Given the description of an element on the screen output the (x, y) to click on. 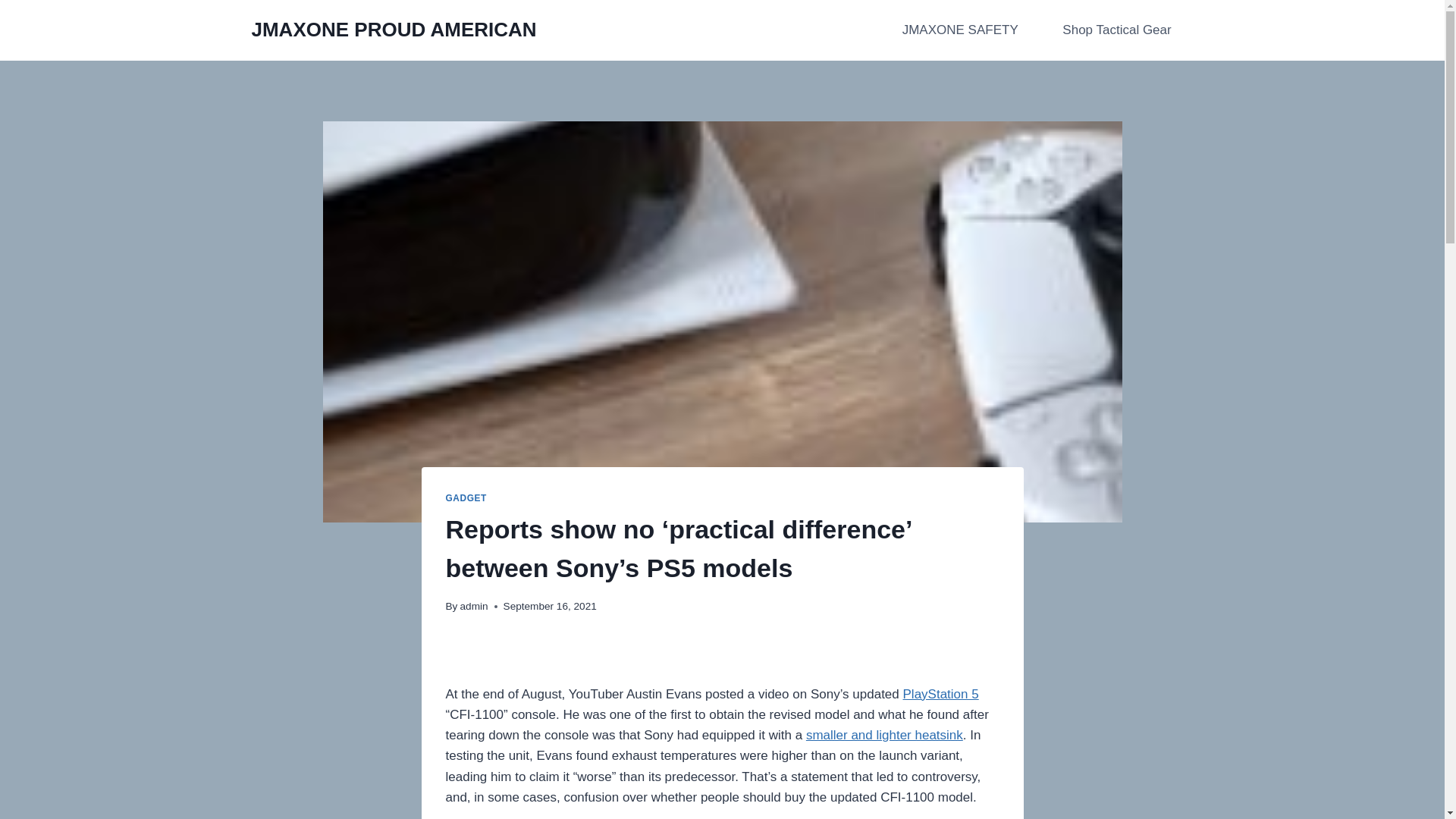
GADGET (465, 498)
Shop Tactical Gear (1117, 30)
PlayStation 5 (940, 694)
smaller and lighter heatsink (884, 735)
JMAXONE PROUD AMERICAN (394, 29)
admin (473, 605)
JMAXONE SAFETY (960, 30)
